Given the description of an element on the screen output the (x, y) to click on. 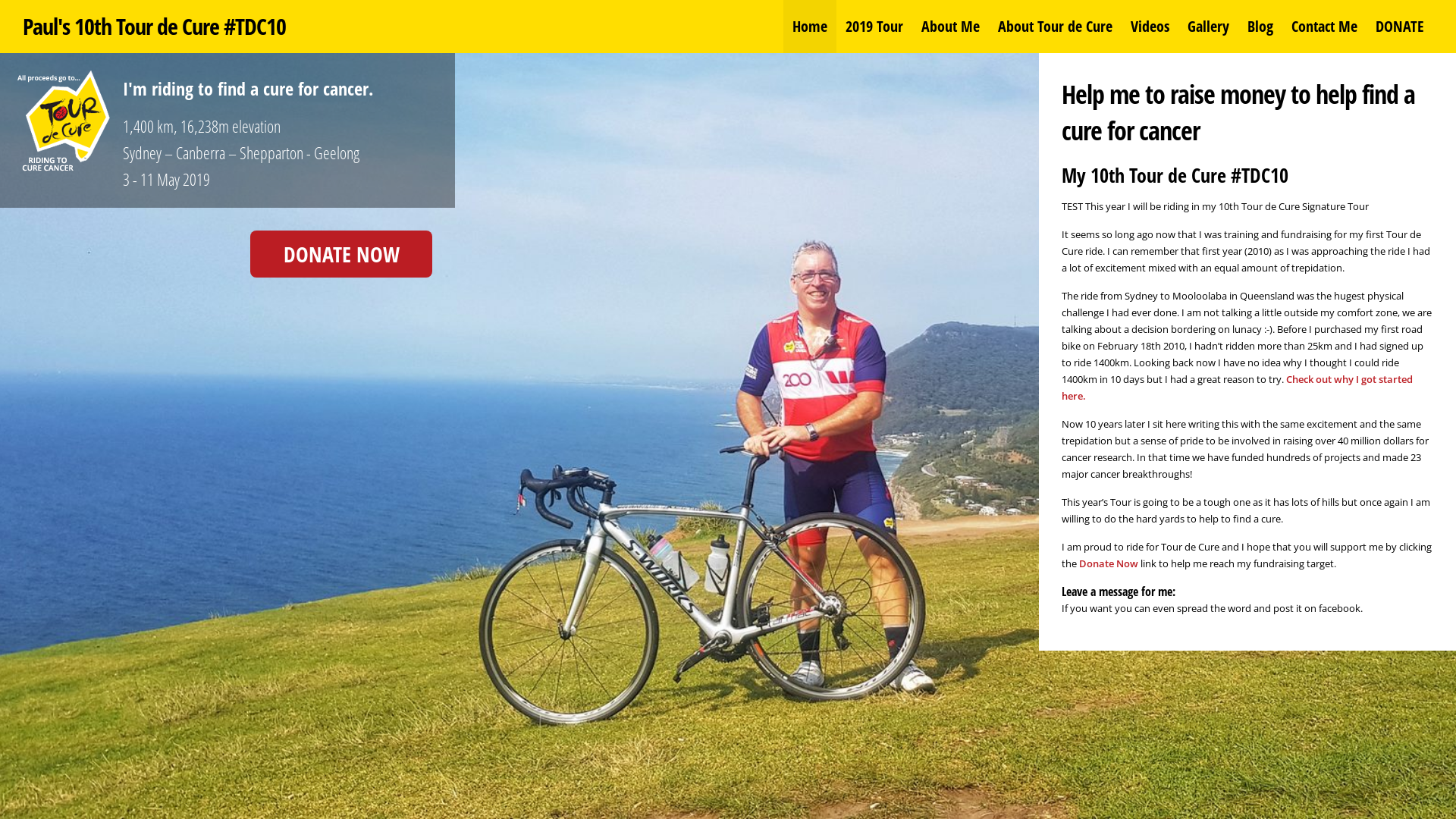
About Tour de Cure Element type: text (1054, 26)
DONATE NOW Element type: text (341, 253)
Donate Now Element type: text (1108, 563)
Check out why I got started here. Element type: text (1236, 387)
Home Element type: text (809, 26)
DONATE Element type: text (1399, 26)
About Me Element type: text (950, 26)
Paul's 10th Tour de Cure #TDC10 Element type: text (153, 25)
2019 Tour Element type: text (874, 26)
Gallery Element type: text (1208, 26)
Videos Element type: text (1149, 26)
Contact Me Element type: text (1324, 26)
Blog Element type: text (1260, 26)
